Given the description of an element on the screen output the (x, y) to click on. 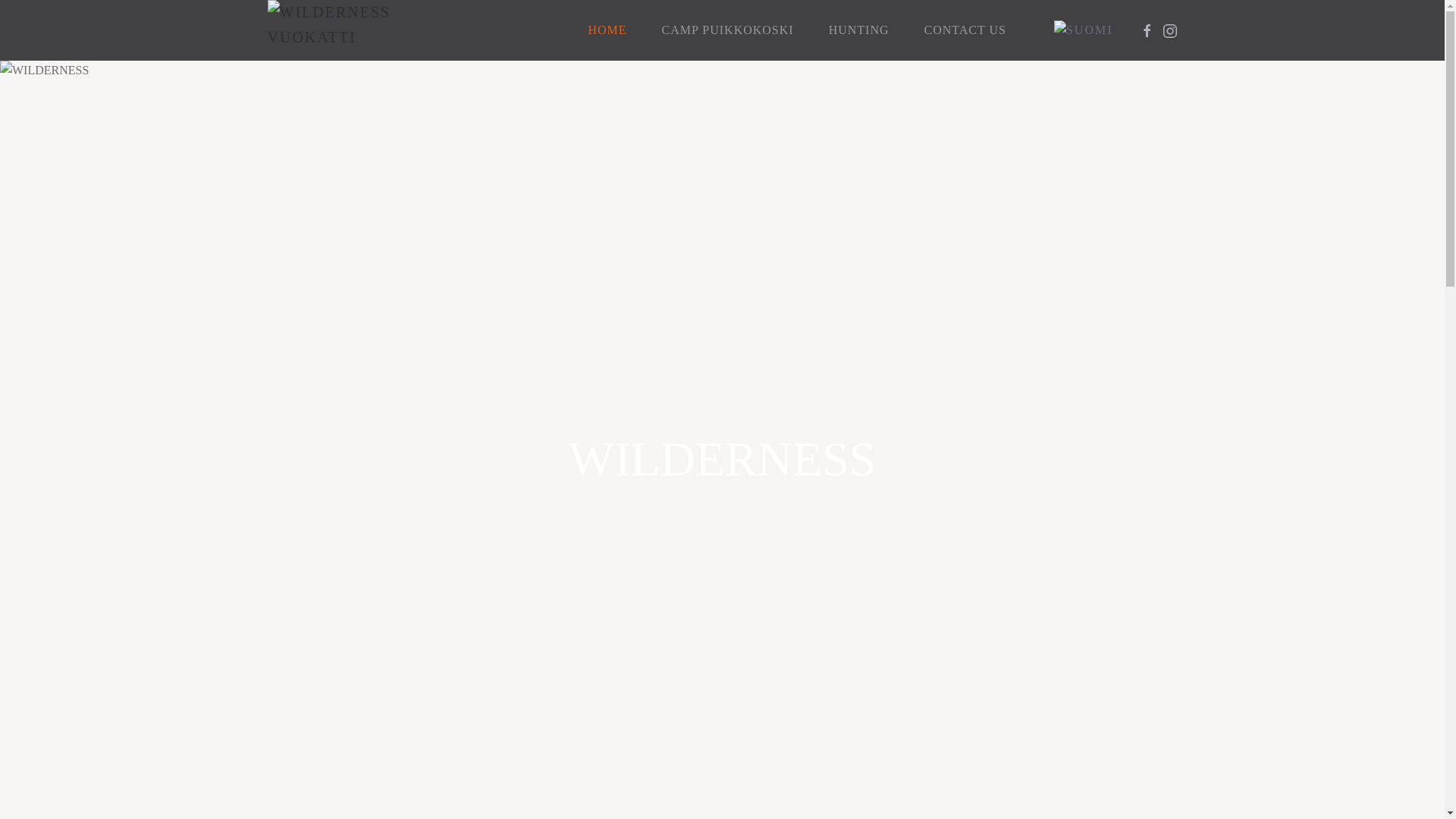
HUNTING (858, 30)
CAMP PUIKKOKOSKI (727, 30)
CONTACT US (964, 30)
suomi (1083, 30)
